Given the description of an element on the screen output the (x, y) to click on. 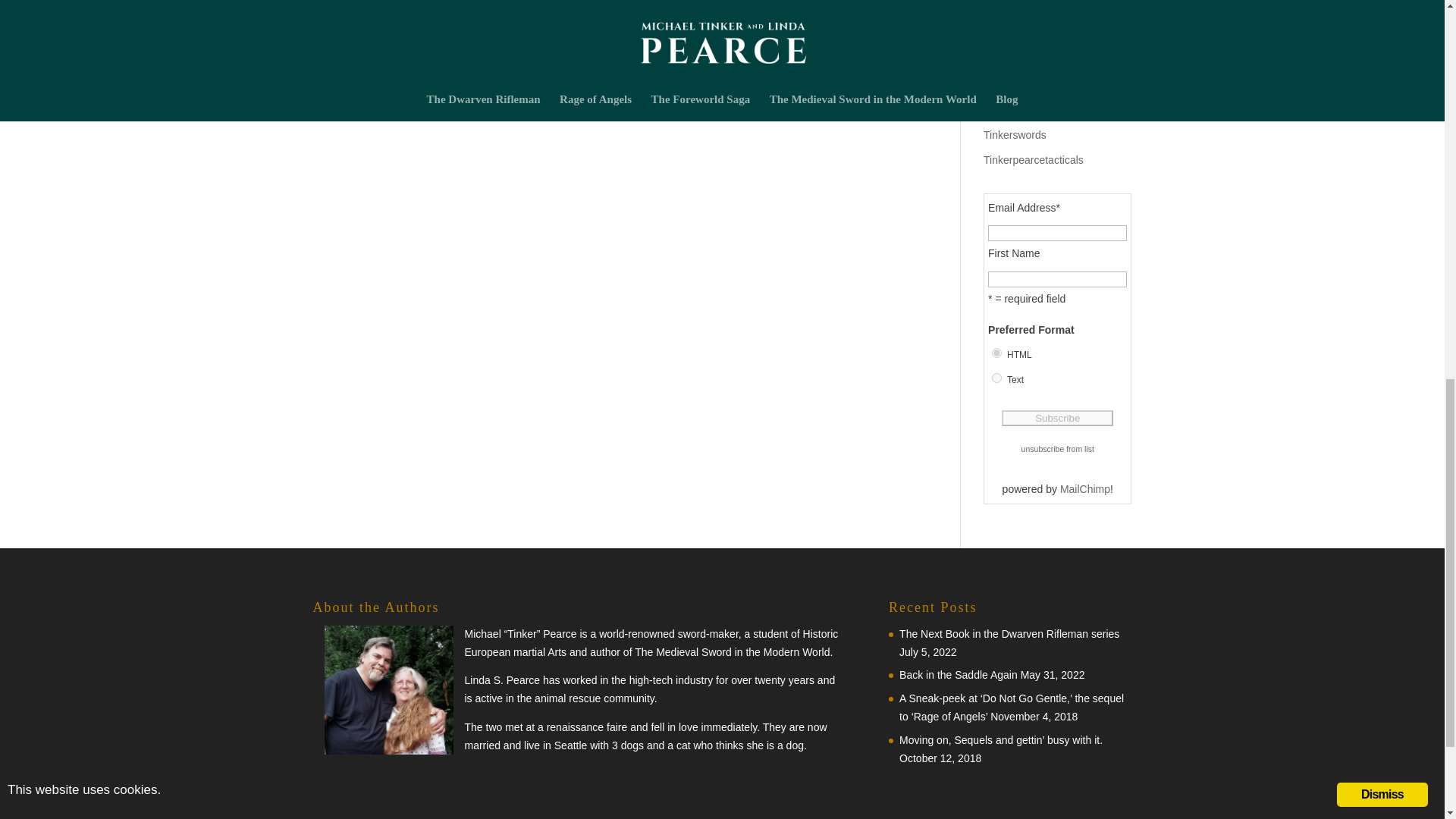
Tinkerswords (1015, 134)
text (996, 378)
unsubscribe from list (1058, 448)
Tinkerpearcetacticals (1033, 159)
Subscribe (1057, 417)
Subscribe (1057, 417)
MailChimp (1084, 489)
Back in the Saddle Again (958, 674)
Understanding Swords and the Microcosms of World-Building (1007, 789)
html (996, 352)
Michael Tinker Pearce (1036, 31)
Linda Pearce (1015, 56)
The Next Book in the Dwarven Rifleman series (1009, 633)
